Given the description of an element on the screen output the (x, y) to click on. 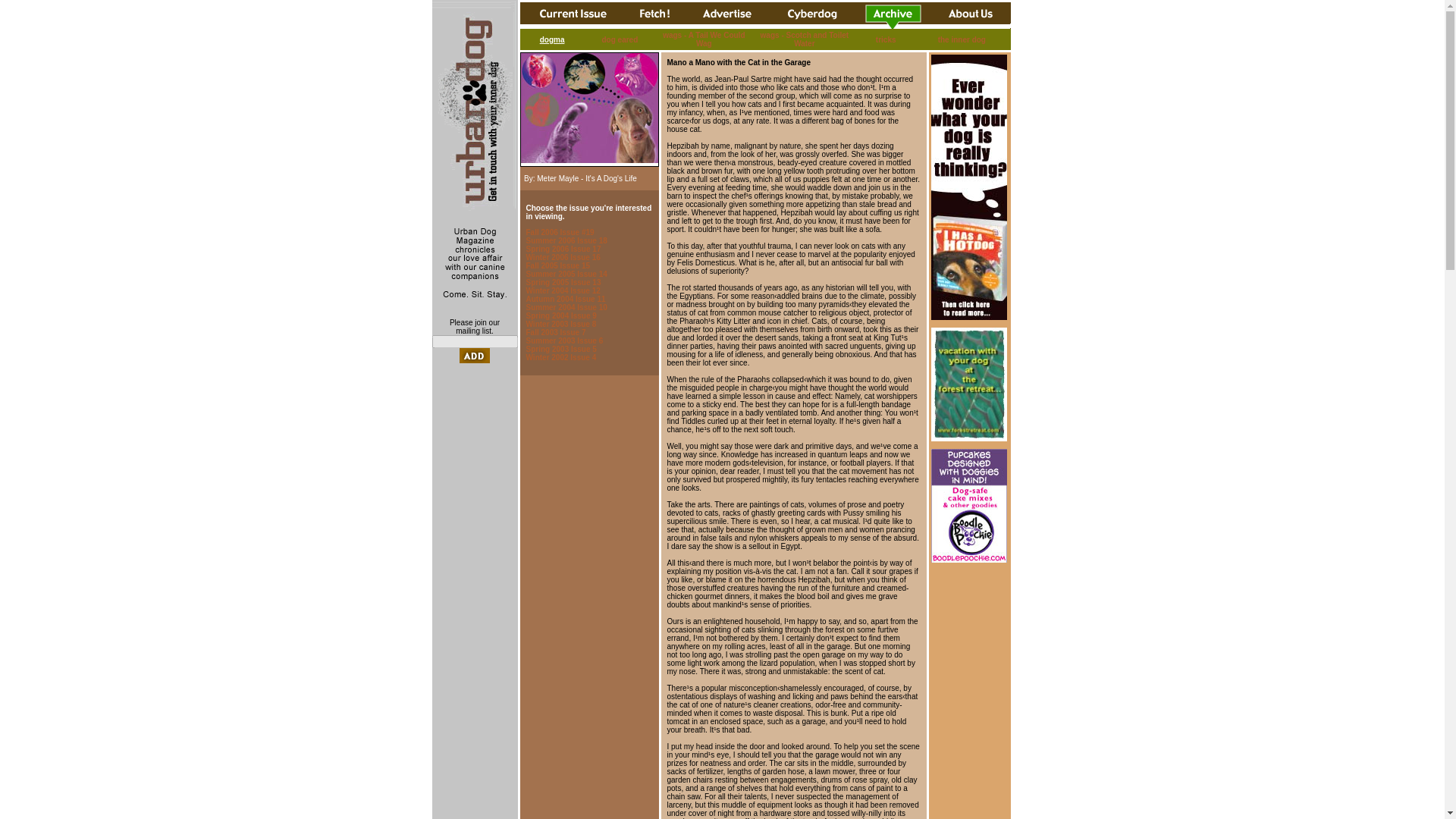
Summer 2003 Issue 6 (564, 340)
Fall 2005 Issue 15 (558, 265)
Winter 2003 Issue 8 (560, 324)
Summer 2004 Issue 10 (566, 307)
the inner dog (961, 39)
Spring 2003 Issue 5 (560, 348)
Spring 2004 Issue 9 (560, 316)
Autumn 2004 Issue 11 (565, 298)
Summer 2006 Issue 18 (566, 240)
Summer 2005 Issue 14 (566, 274)
Winter 2004 Issue 12 (562, 290)
Winter 2002 Issue 4 (560, 356)
wags - A Tail We Could Wag (703, 39)
Winter 2006 Issue 16 (562, 257)
Spring 2006 Issue 17 (563, 248)
